Given the description of an element on the screen output the (x, y) to click on. 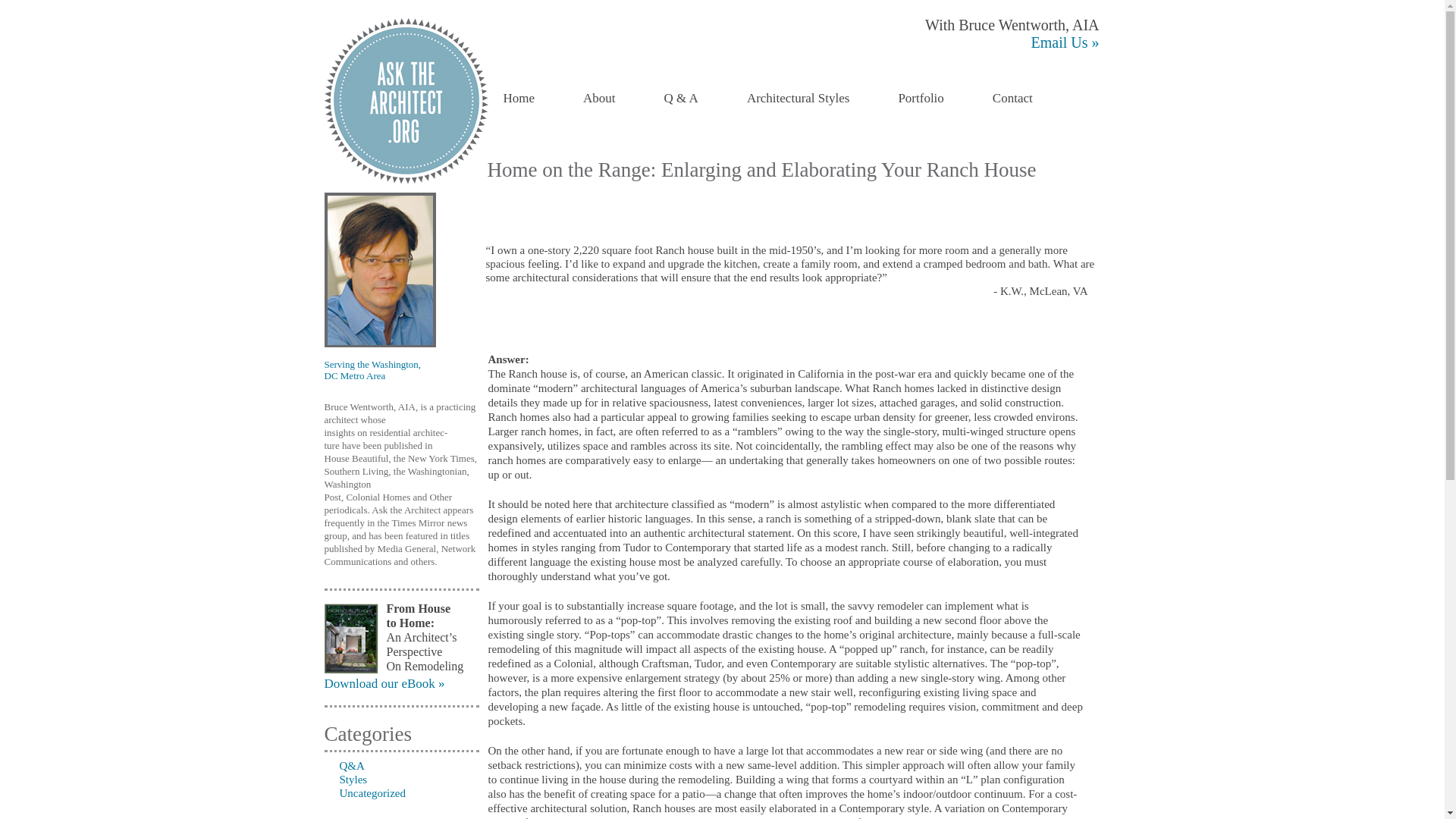
Styles (346, 779)
Home (519, 98)
Contact (1012, 98)
Uncategorized (365, 793)
Ask The Architect (405, 100)
Portfolio (920, 98)
About (599, 98)
Architectural Styles (798, 98)
